Given the description of an element on the screen output the (x, y) to click on. 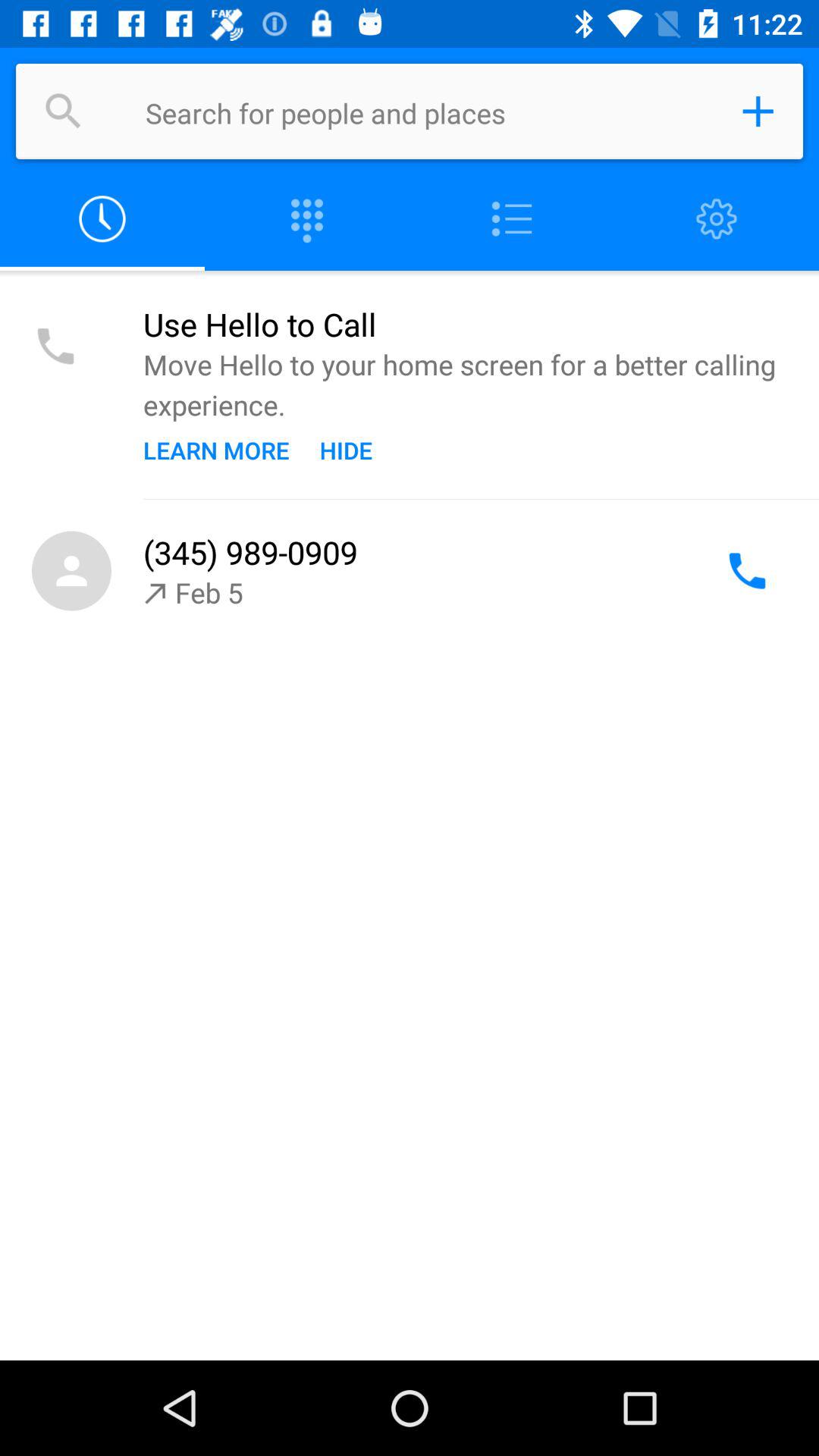
turn off the hide (345, 449)
